Given the description of an element on the screen output the (x, y) to click on. 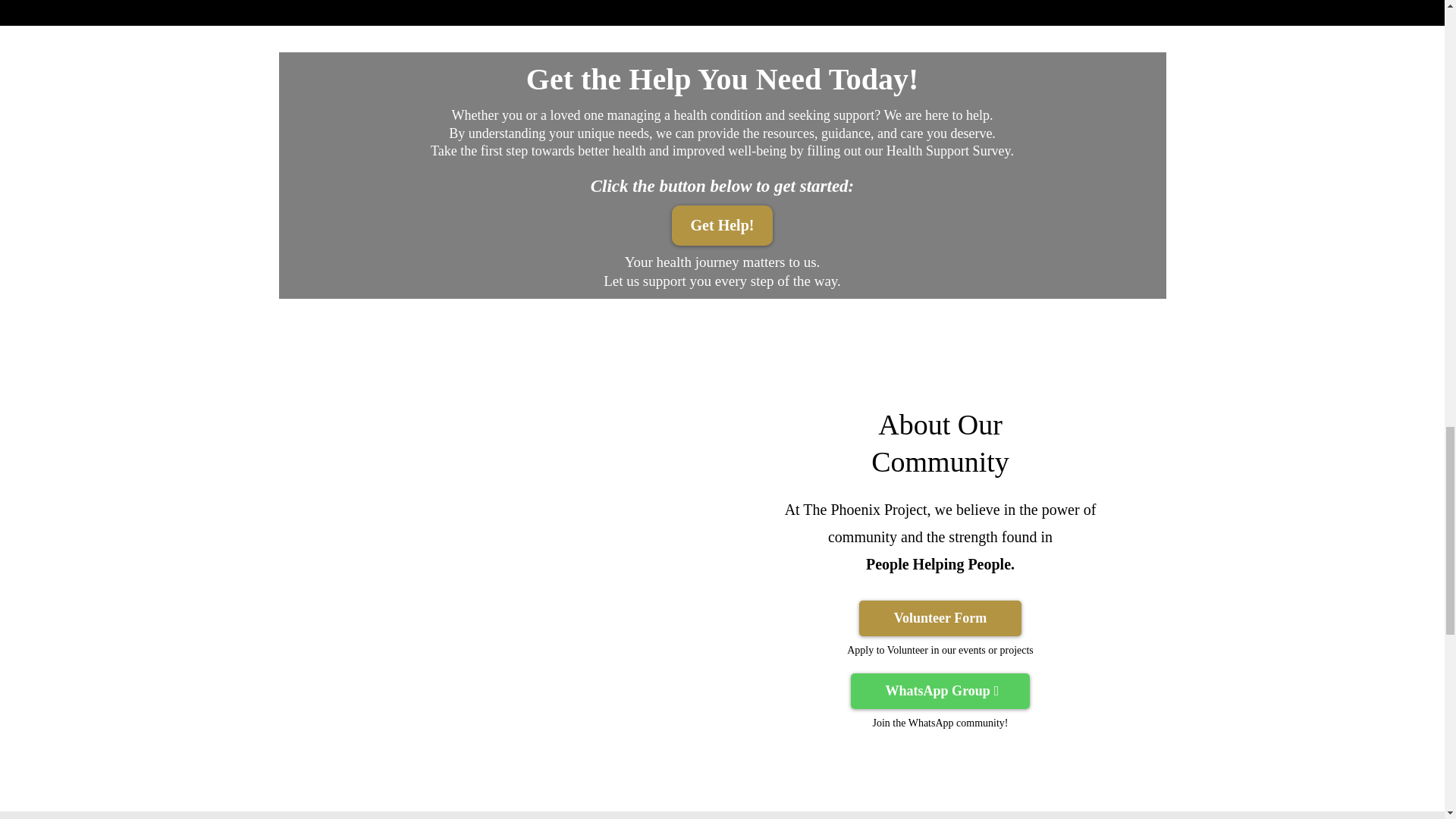
Get Help! (722, 225)
Volunteer Form (940, 618)
WhatsApp Group (940, 691)
